Given the description of an element on the screen output the (x, y) to click on. 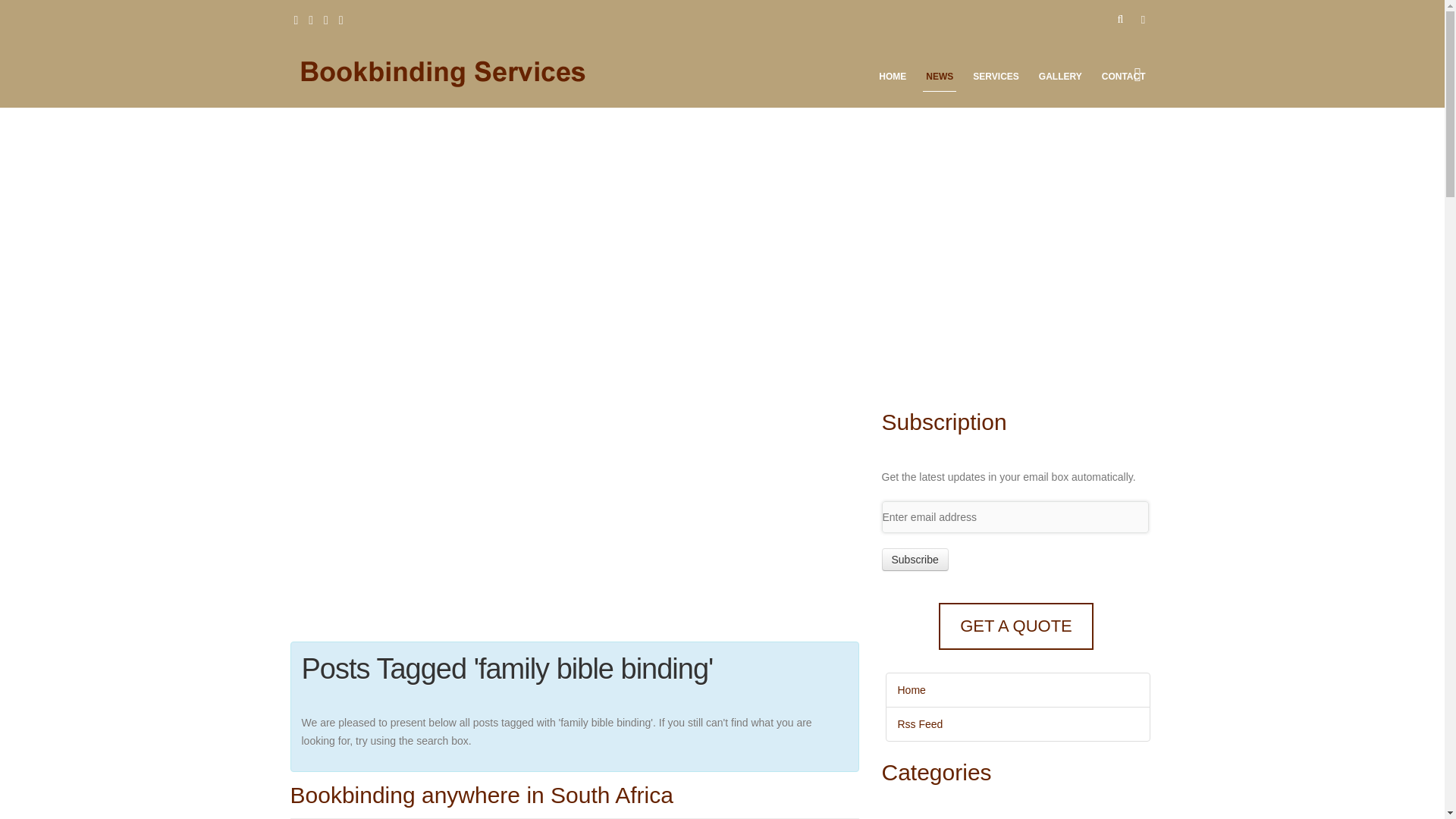
Facebook (295, 19)
HOME (892, 79)
NEWS (939, 79)
SERVICES (995, 79)
Linkedin (310, 19)
